Given the description of an element on the screen output the (x, y) to click on. 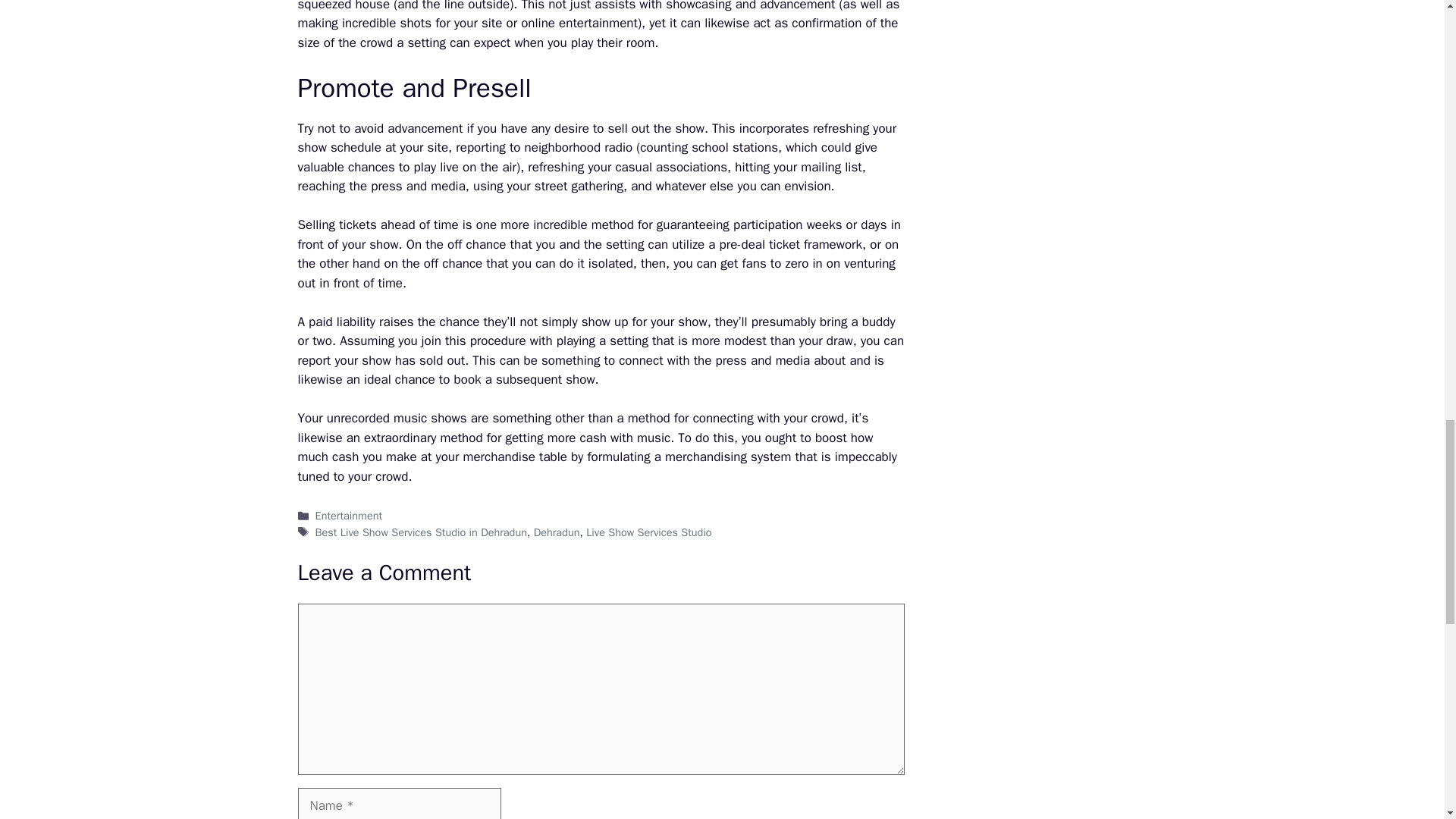
Best Live Show Services Studio in Dehradun (421, 531)
Dehradun (556, 531)
music (653, 437)
Entertainment (348, 515)
Live Show Services Studio (648, 531)
